Given the description of an element on the screen output the (x, y) to click on. 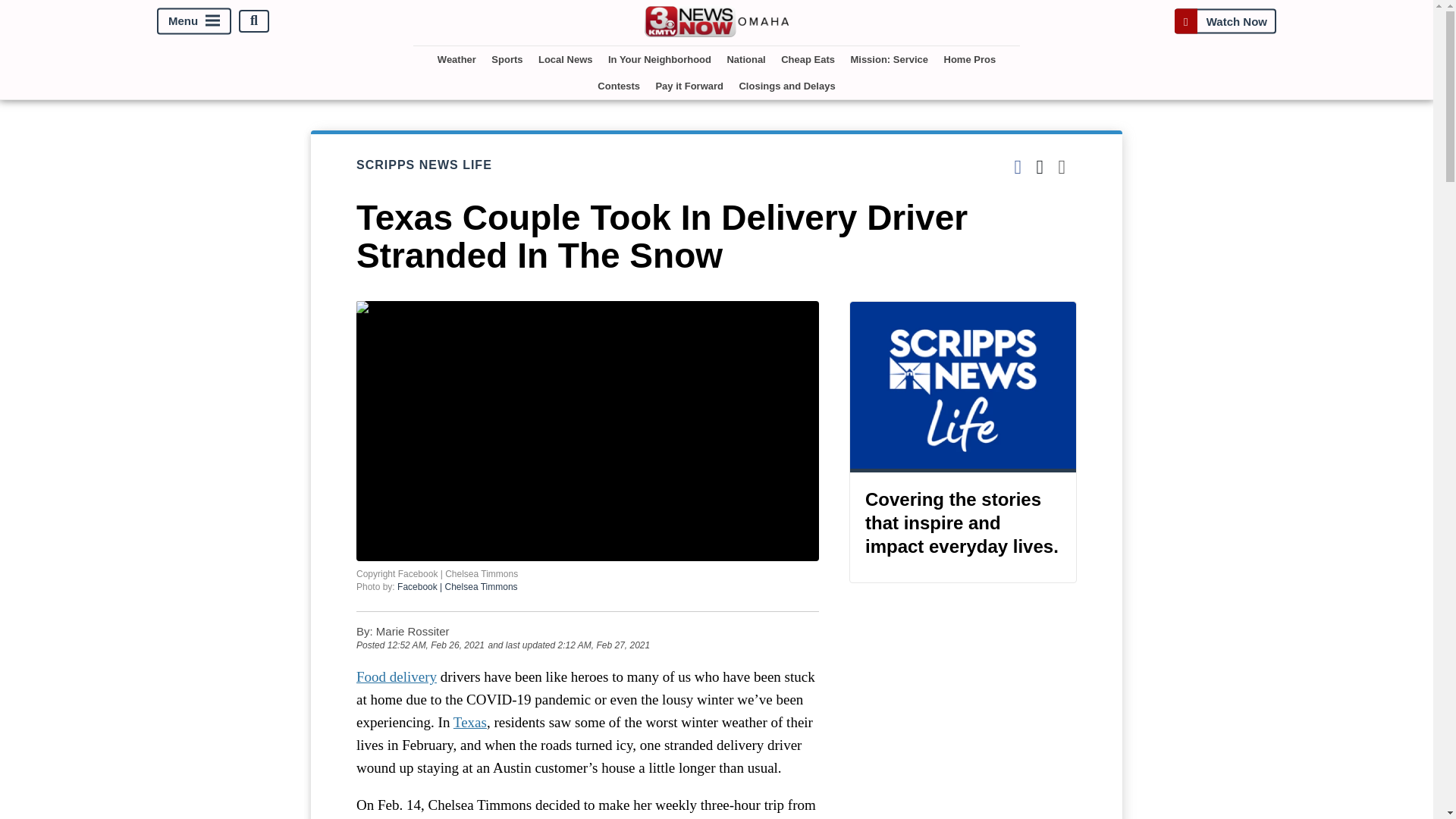
Watch Now (1224, 20)
Menu (194, 20)
